Given the description of an element on the screen output the (x, y) to click on. 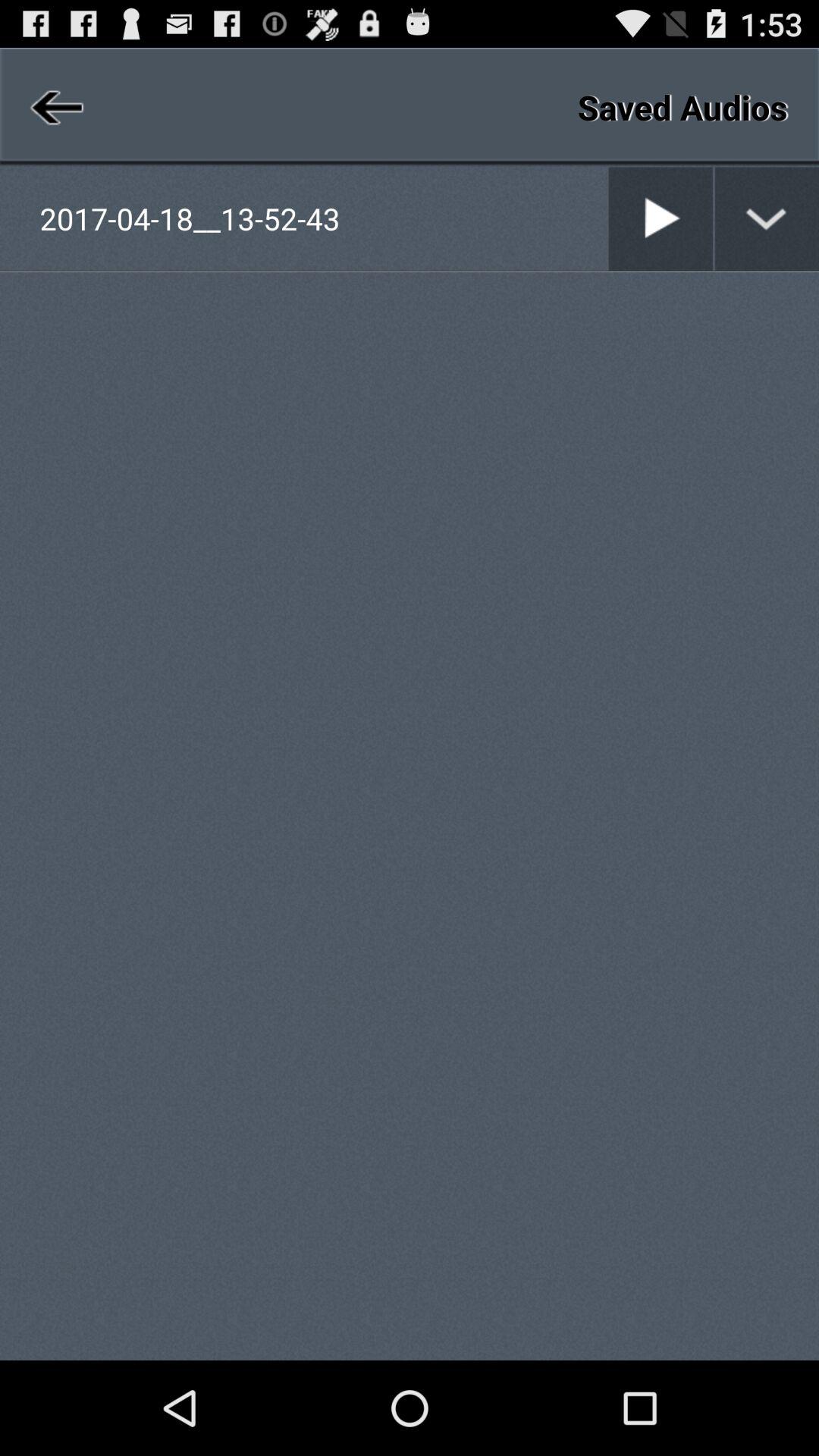
press icon next to the 2017 04 18__13 icon (608, 218)
